Given the description of an element on the screen output the (x, y) to click on. 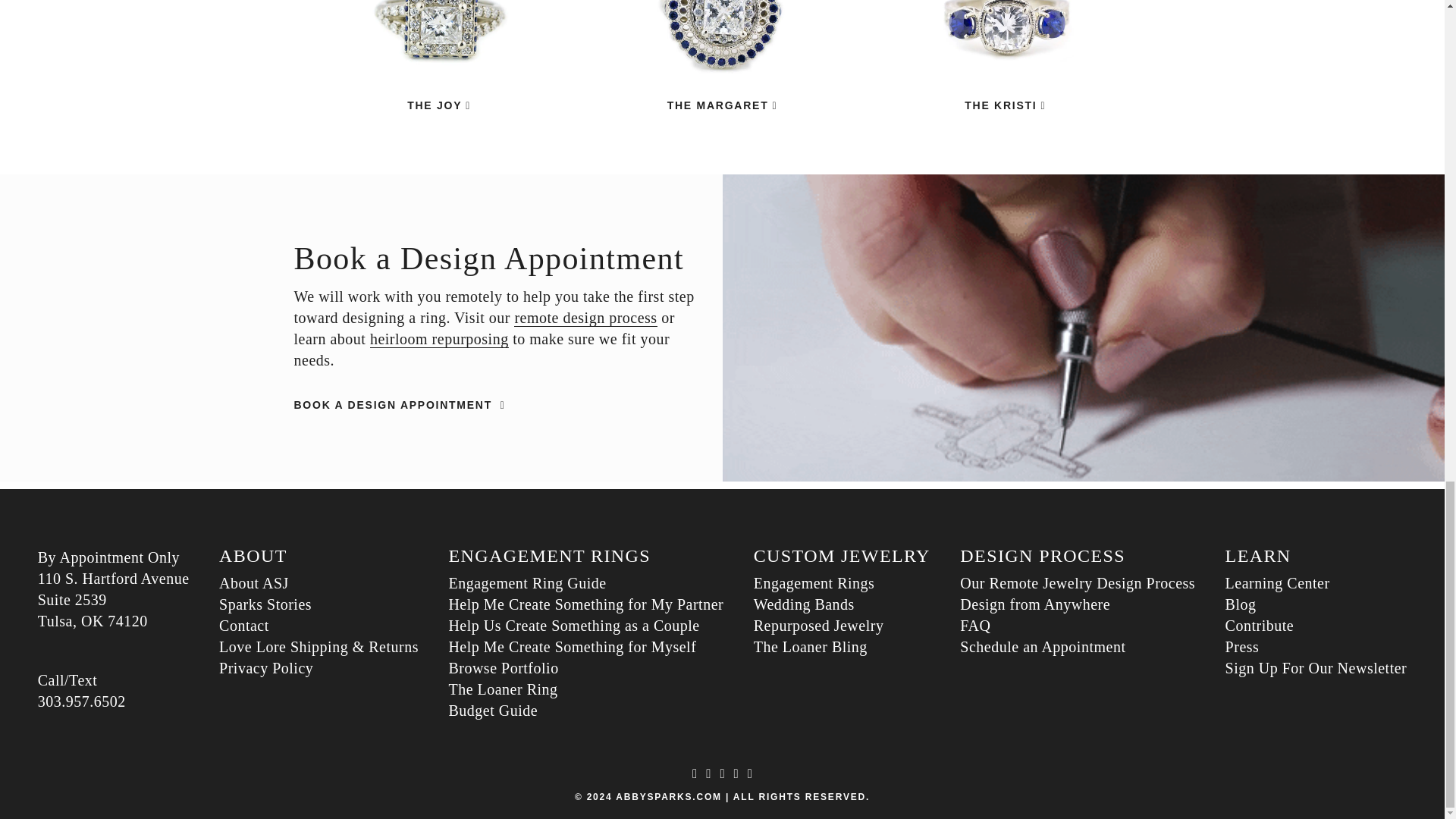
Sapphire Filigree Mandala Ring (722, 54)
Three Stone Sapphire and Diamond Ring (1004, 54)
Princess Cut Diamond Halo Engagement Ring With Sapphires (438, 54)
Princess Cut Diamond Halo Engagement Ring With Sapphires (438, 105)
Three Stone Sapphire and Diamond Ring (1004, 105)
Sapphire Filigree Mandala Ring (721, 105)
